Given the description of an element on the screen output the (x, y) to click on. 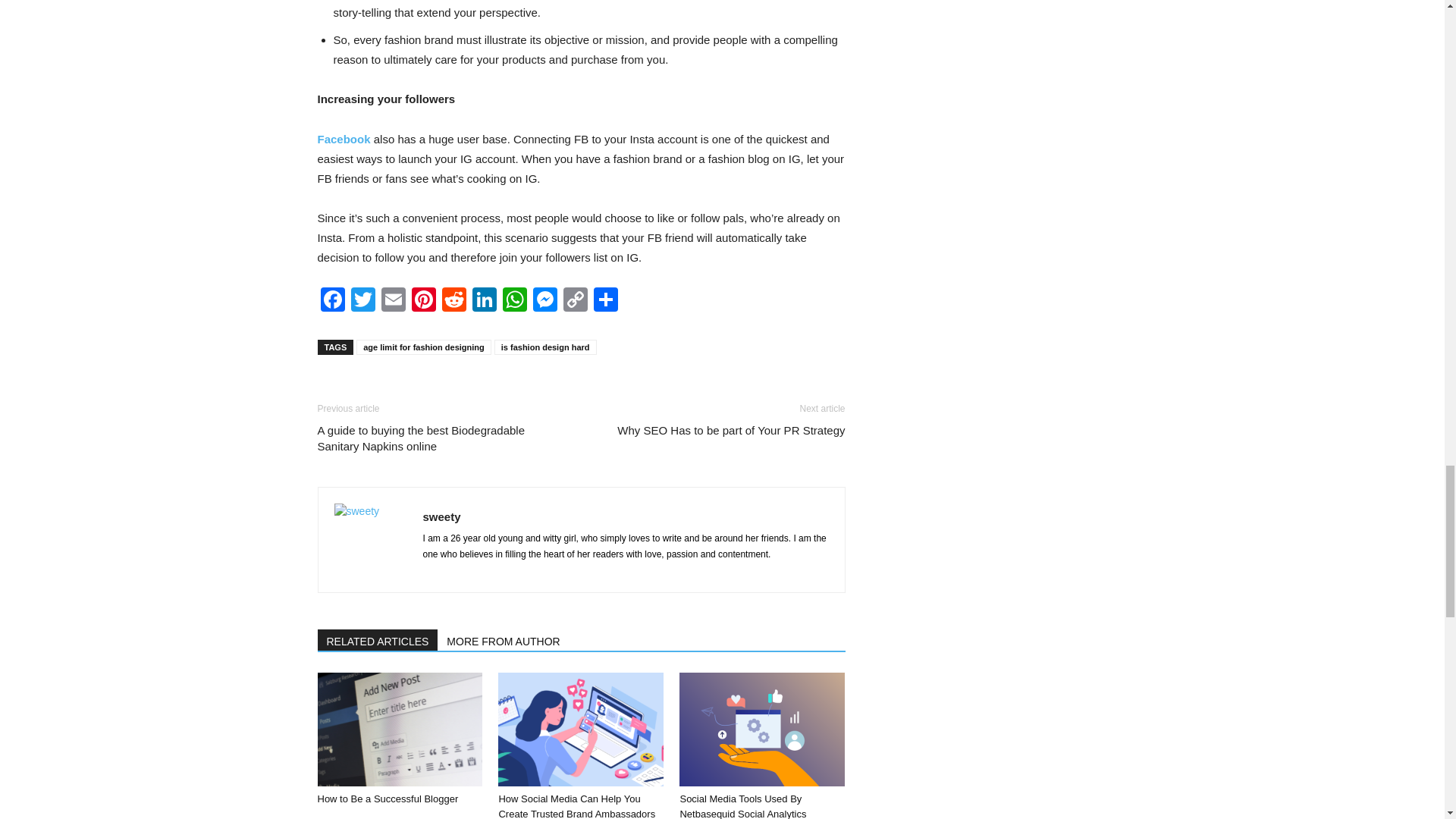
Twitter (362, 301)
Facebook (332, 301)
Email (392, 301)
Pinterest (422, 301)
